Given the description of an element on the screen output the (x, y) to click on. 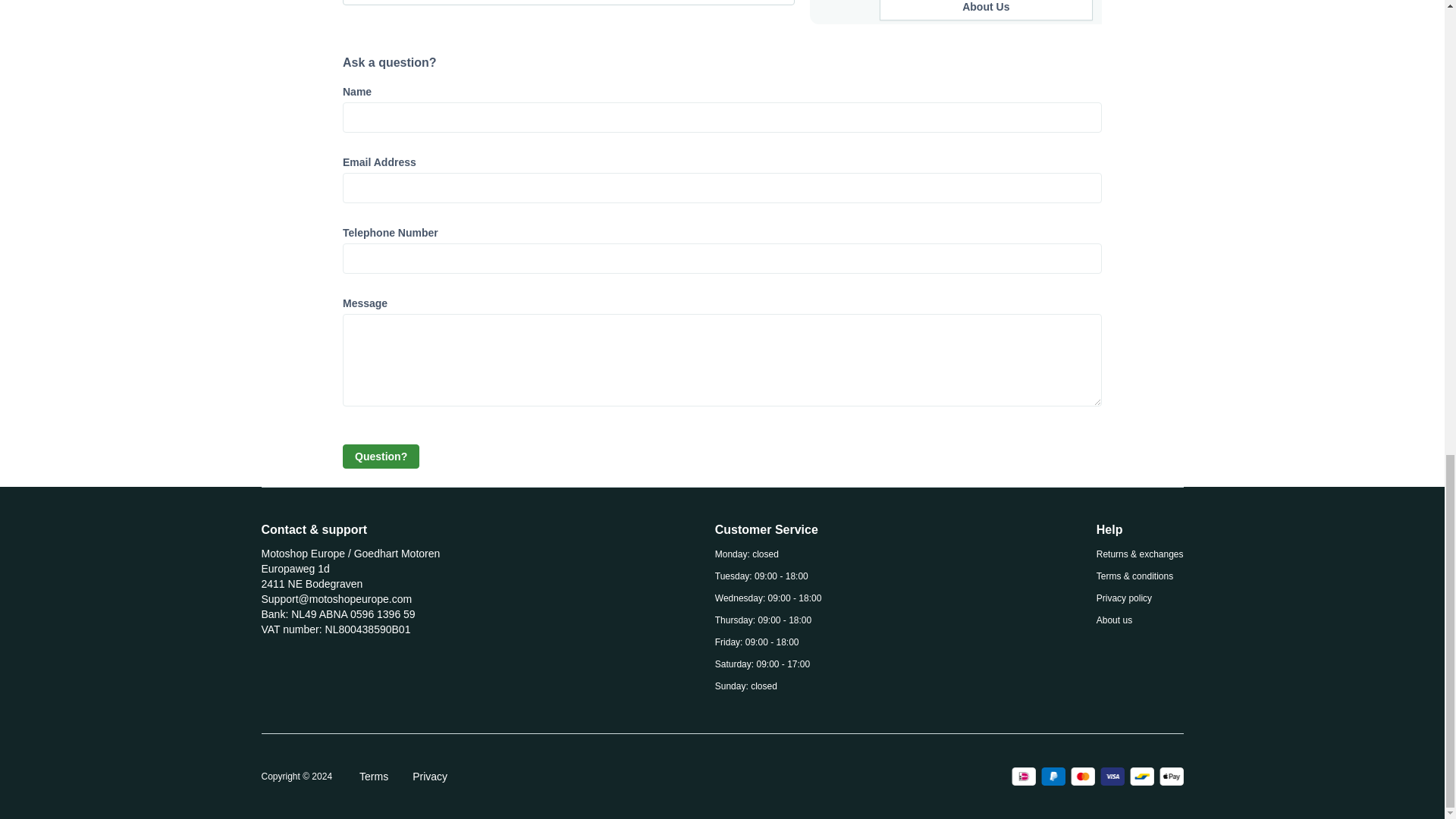
Question? (380, 456)
